Given the description of an element on the screen output the (x, y) to click on. 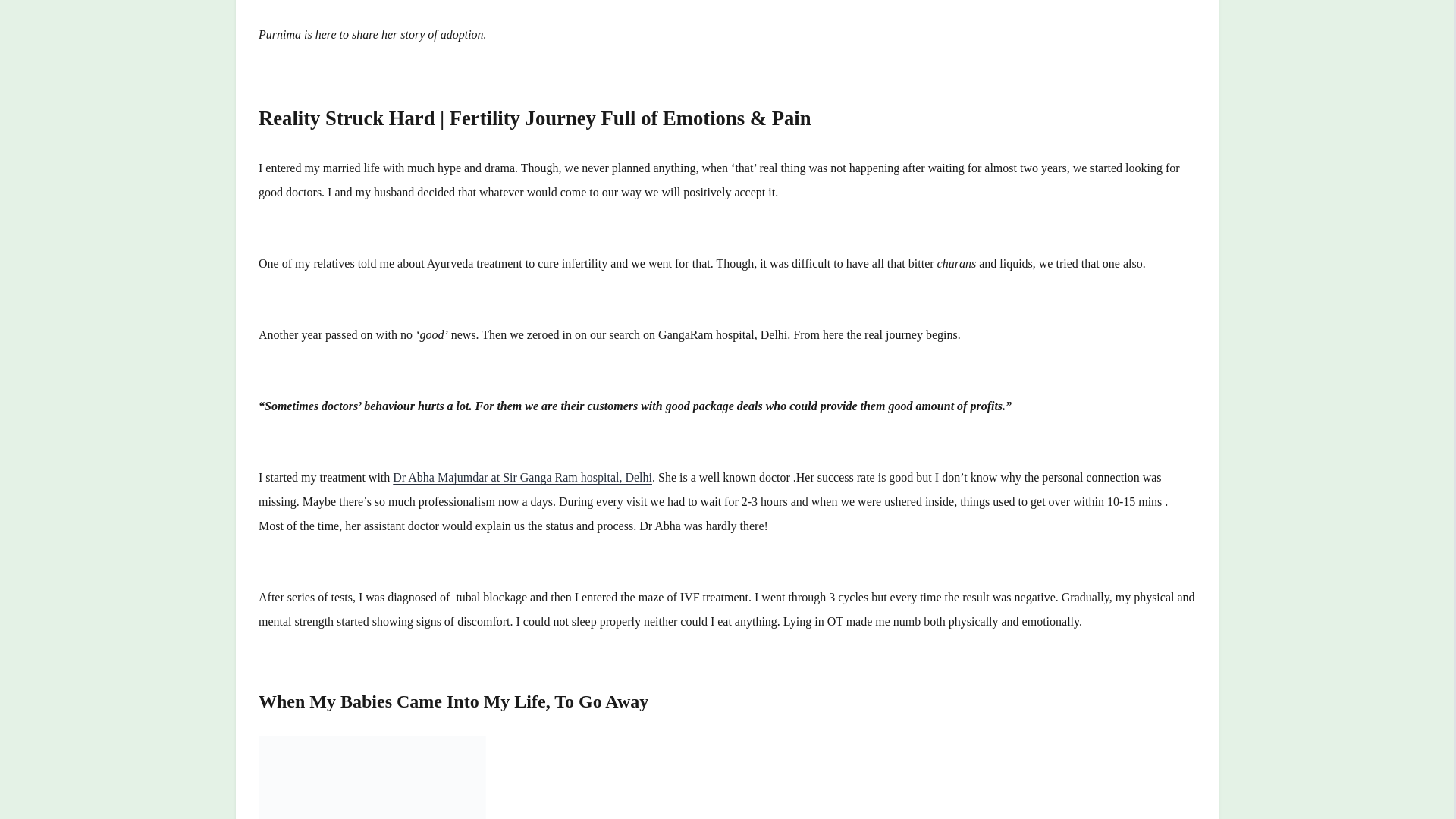
Dr Abha Majumdar at Sir Ganga Ram hospital, Delhi (522, 477)
